Given the description of an element on the screen output the (x, y) to click on. 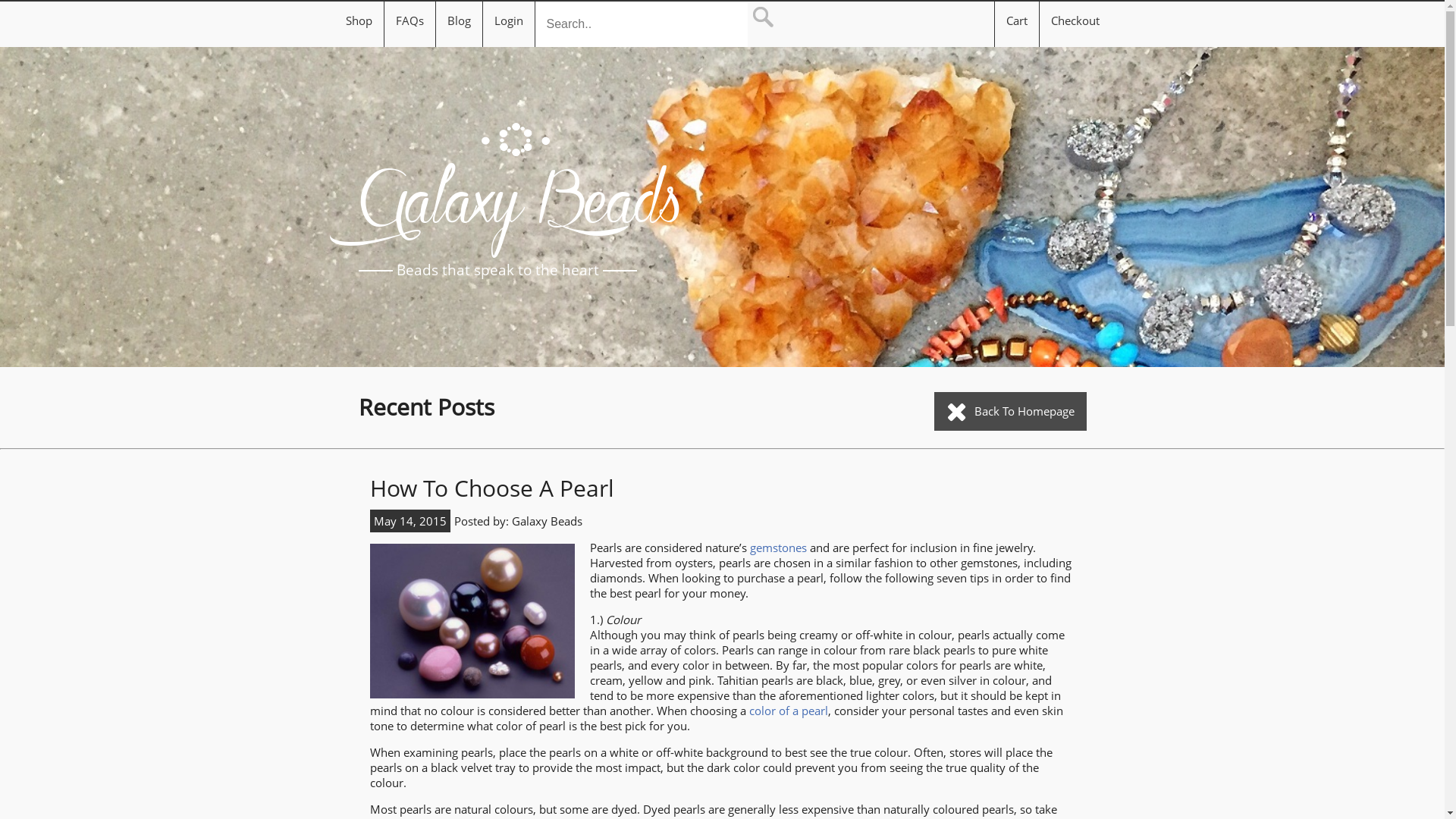
color of a pearl Element type: text (788, 710)
Login Element type: text (508, 20)
Galaxy Beads Element type: text (519, 208)
gemstones Element type: text (779, 547)
Back To Homepage Element type: text (1010, 411)
Checkout Element type: text (1075, 24)
Cart Element type: text (1015, 24)
May 14, 2015 Element type: text (409, 520)
Galaxy Beads Element type: text (546, 520)
Shop Element type: text (358, 20)
FAQs Element type: text (409, 20)
Blog Element type: text (458, 20)
